Given the description of an element on the screen output the (x, y) to click on. 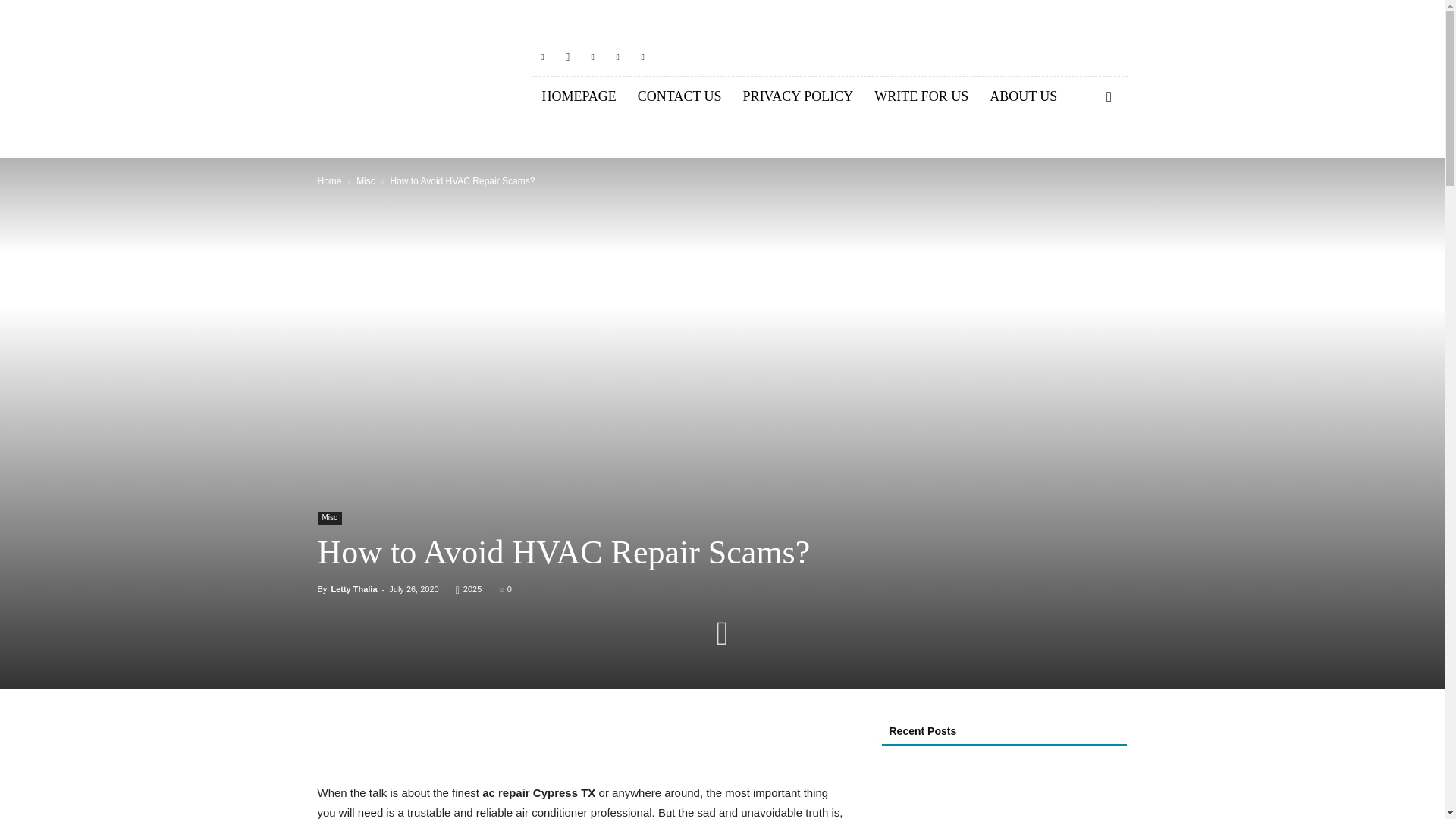
Search (1085, 159)
CONTACT US (679, 96)
Misc (329, 517)
Letty Thalia (353, 588)
Youtube (642, 55)
ABOUT US (1022, 96)
Home (328, 181)
Misc (365, 181)
0 (505, 588)
HOMEPAGE (578, 96)
